Given the description of an element on the screen output the (x, y) to click on. 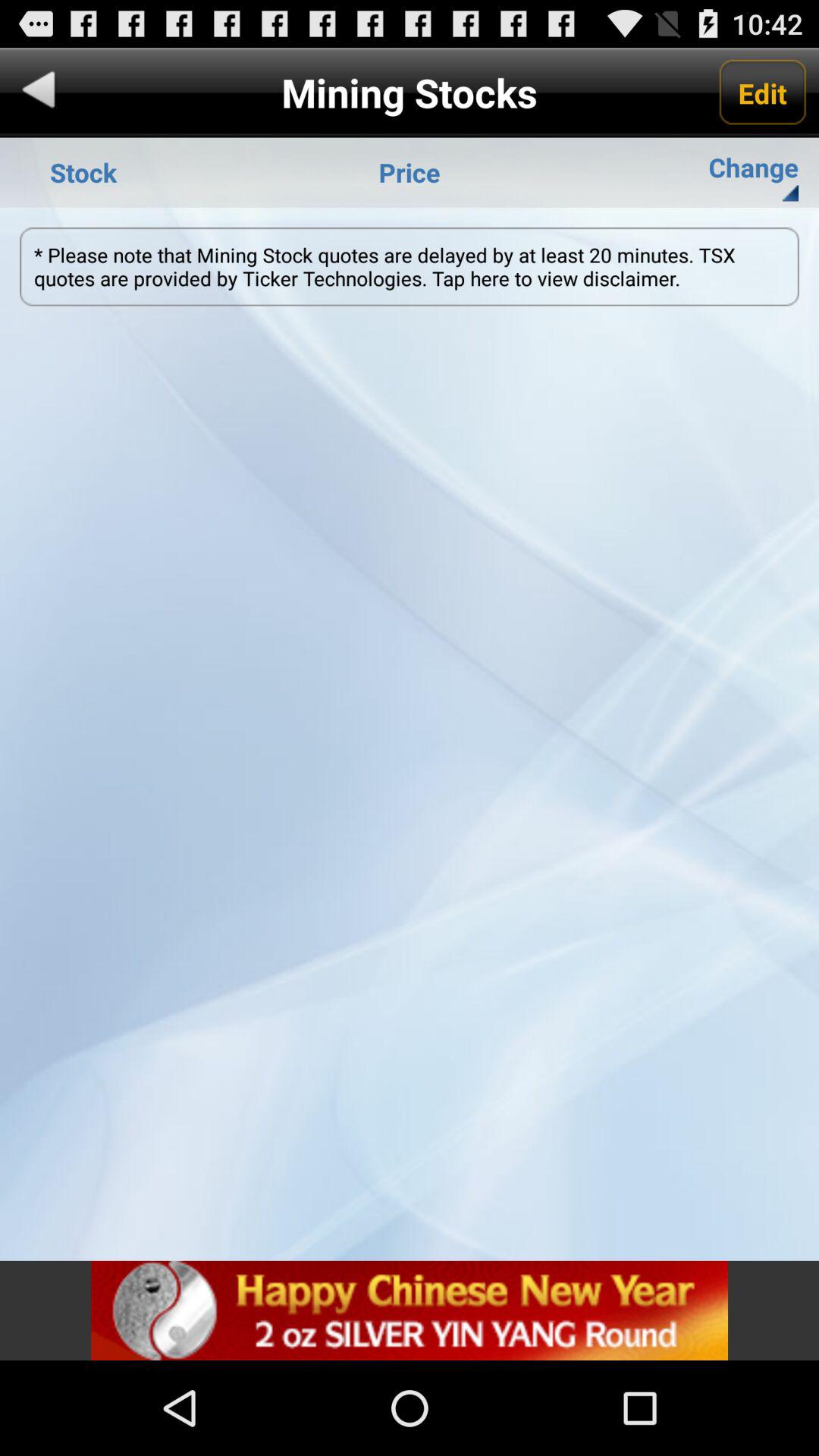
for advertisement (409, 1310)
